Given the description of an element on the screen output the (x, y) to click on. 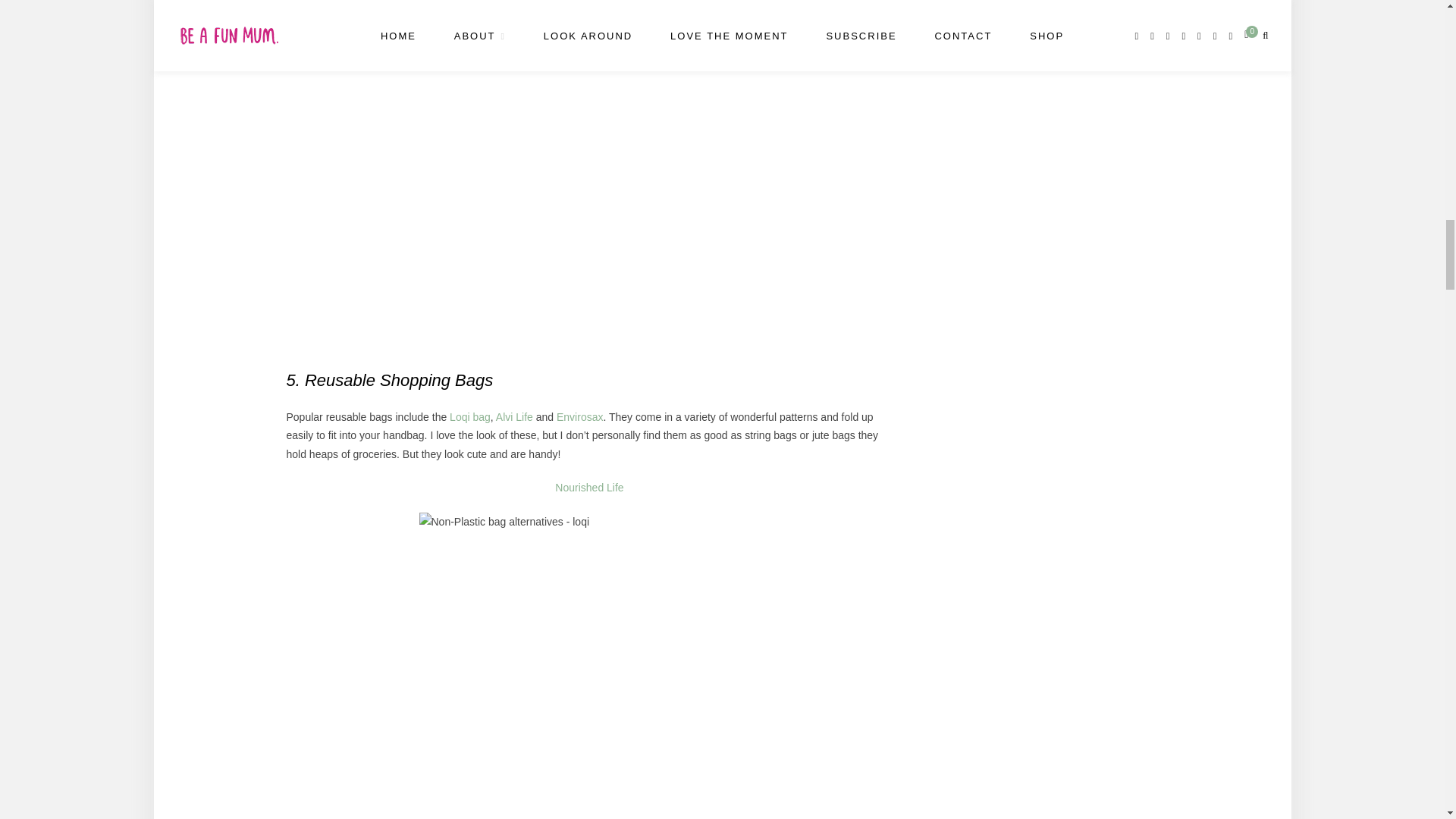
Loqi bag (469, 417)
Nourished Life (588, 487)
Alvi Life (514, 417)
Envirosax (579, 417)
